Given the description of an element on the screen output the (x, y) to click on. 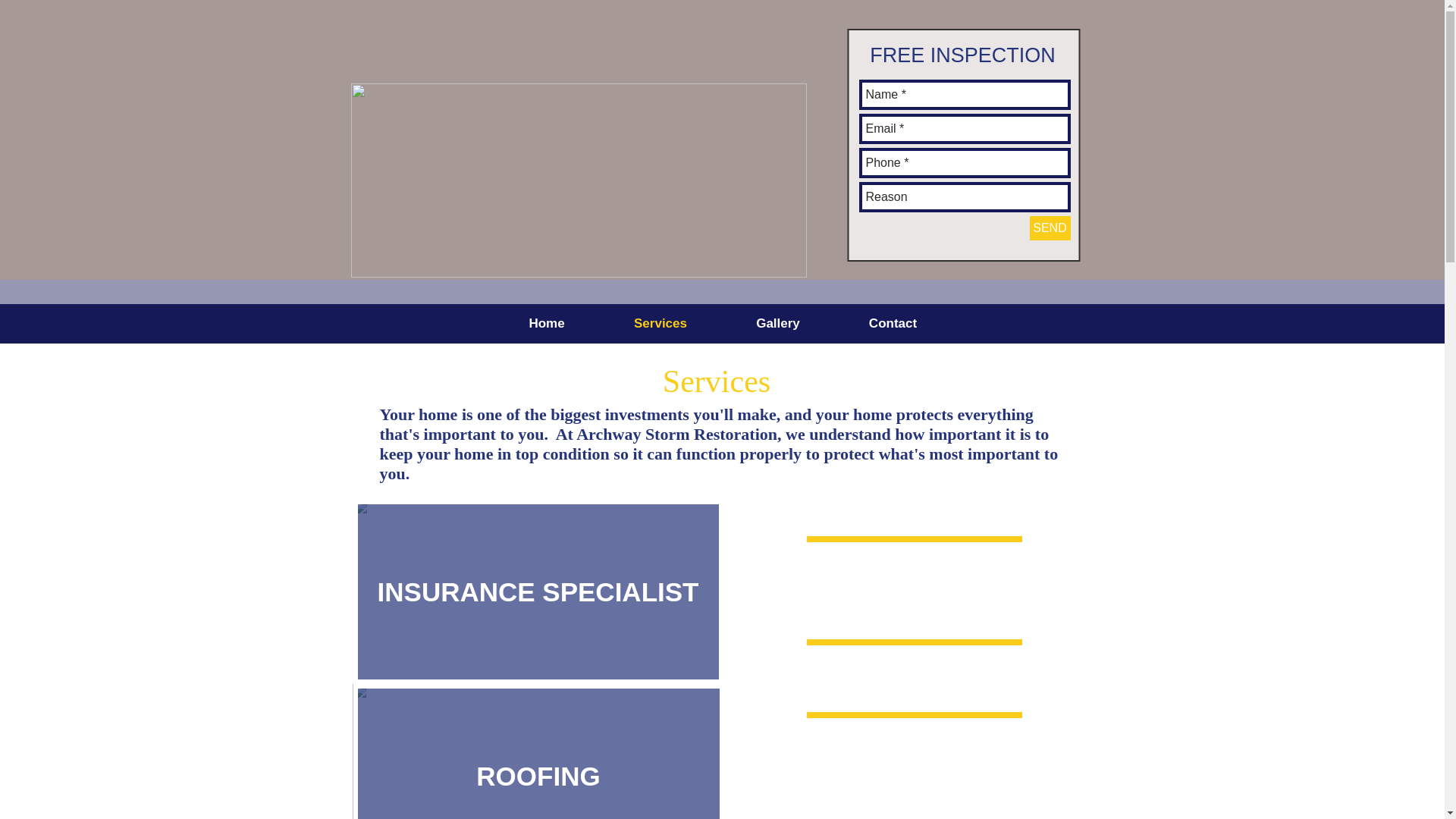
Contact (892, 323)
INSURANCE SPECIALIST (538, 590)
Services (659, 323)
Gallery (778, 323)
Home (547, 323)
Roofing.jpg (537, 751)
ROOFING (538, 751)
SEND (1049, 228)
